Given the description of an element on the screen output the (x, y) to click on. 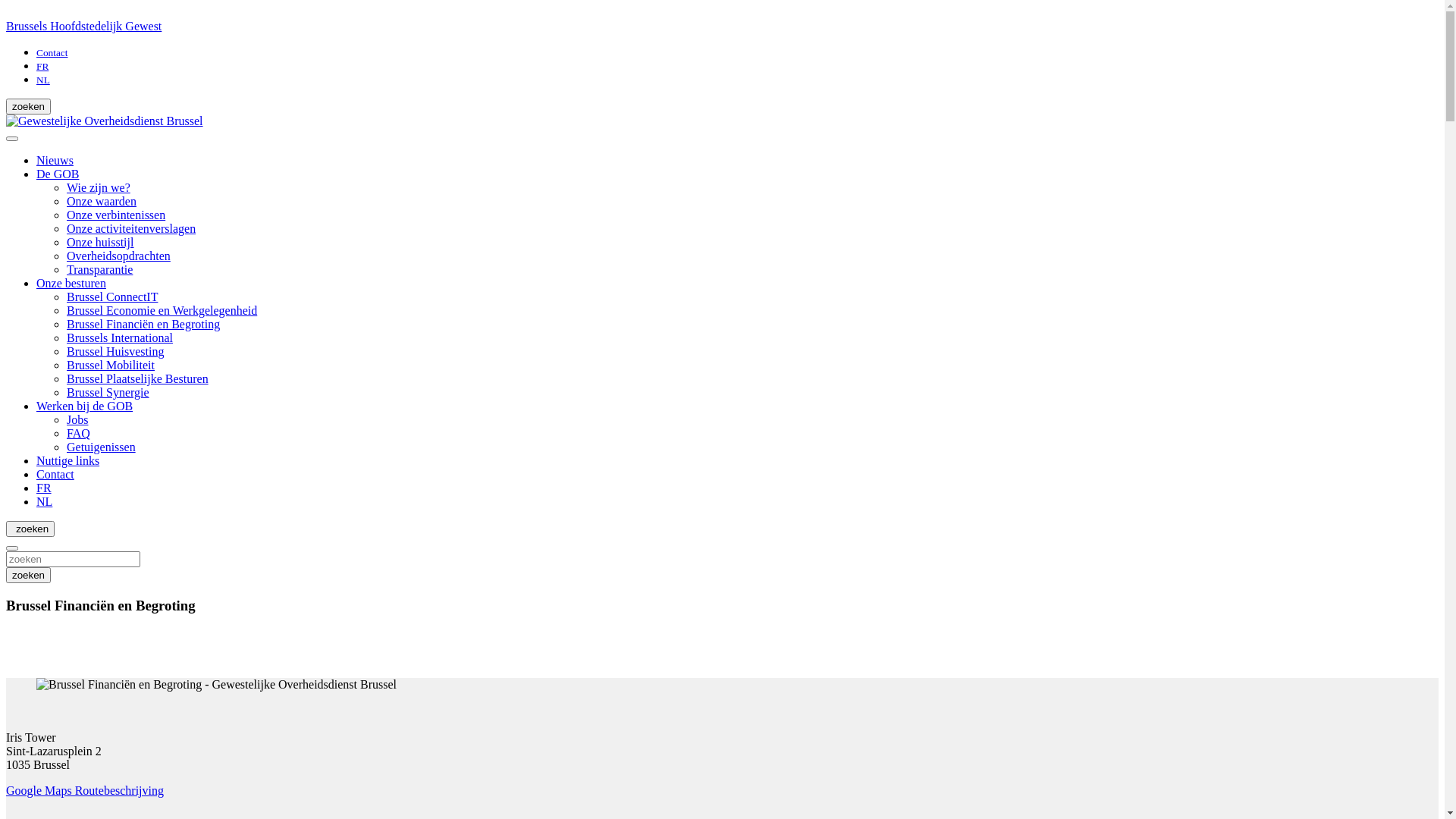
Werken bij de GOB Element type: text (84, 405)
De GOB Element type: text (57, 173)
Onze waarden Element type: text (101, 200)
Onze verbintenissen Element type: text (115, 214)
Overheidsopdrachten Element type: text (118, 255)
Brussel Plaatselijke Besturen Element type: text (137, 378)
Brussel Economie en Werkgelegenheid Element type: text (161, 310)
Brussel ConnectIT Element type: text (111, 296)
Brussels Hoofdstedelijk Gewest Element type: text (722, 33)
Contact Element type: text (55, 473)
FAQ Element type: text (78, 432)
zoeken Element type: text (28, 106)
zoeken Element type: hover (73, 559)
Wie zijn we? Element type: text (98, 187)
Onze huisstijl Element type: text (99, 241)
zoeken Element type: text (30, 528)
FR Element type: text (43, 487)
Onze besturen Element type: text (71, 282)
Nuttige links Element type: text (67, 460)
Brussel Mobiliteit Element type: text (110, 364)
FR Element type: text (42, 65)
Brussel Synergie Element type: text (107, 391)
Transparantie Element type: text (99, 269)
Brussels International Element type: text (119, 337)
Jobs Element type: text (76, 419)
NL Element type: text (44, 501)
Onze activiteitenverslagen Element type: text (130, 228)
Contact Element type: text (51, 51)
Nieuws Element type: text (54, 159)
Brussel Huisvesting Element type: text (114, 351)
zoeken Element type: text (28, 575)
Google Maps Routebeschrijving Element type: text (84, 790)
Getuigenissen Element type: text (100, 446)
NL Element type: text (43, 78)
